Given the description of an element on the screen output the (x, y) to click on. 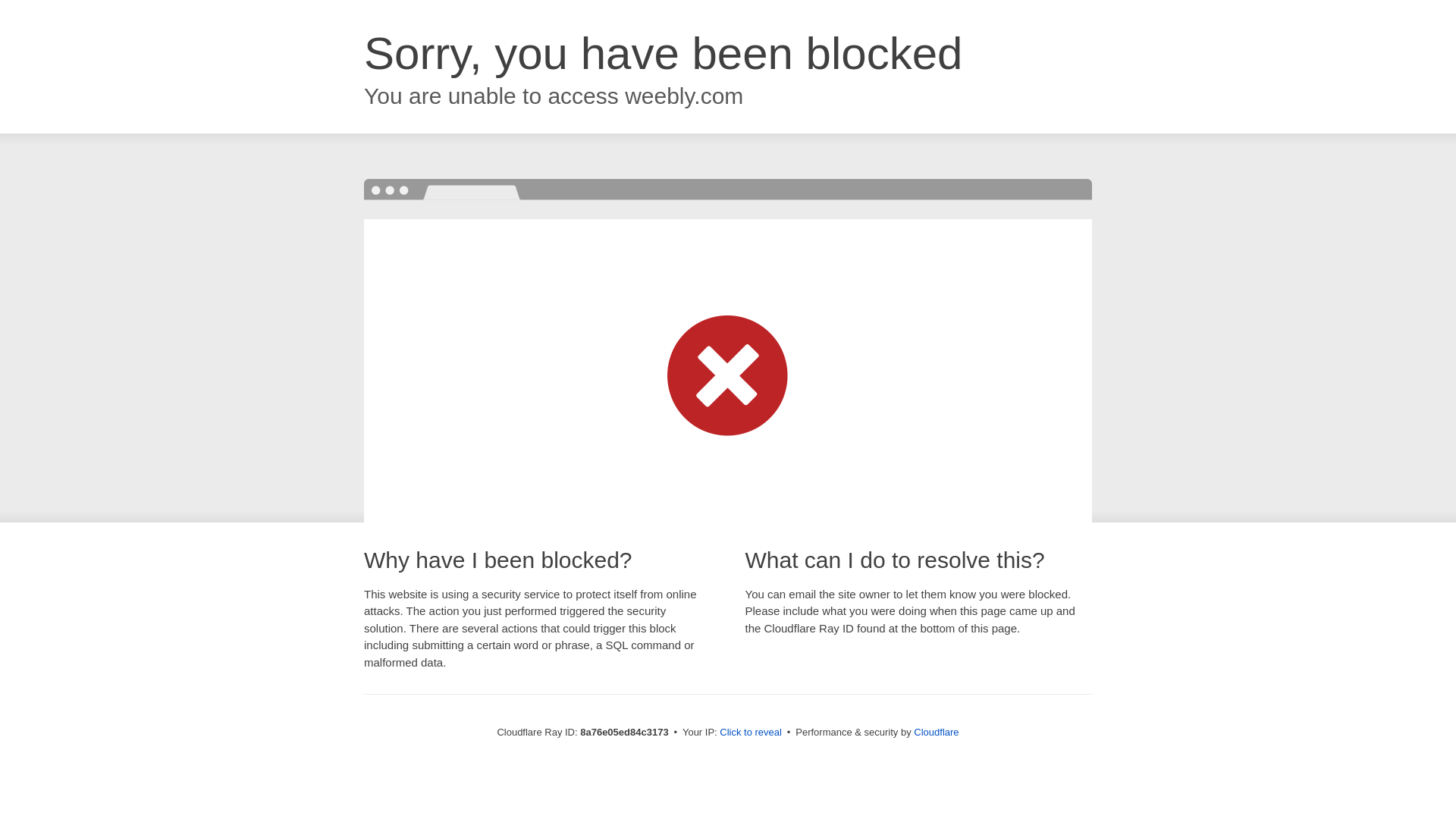
Cloudflare (936, 731)
Click to reveal (750, 732)
